Given the description of an element on the screen output the (x, y) to click on. 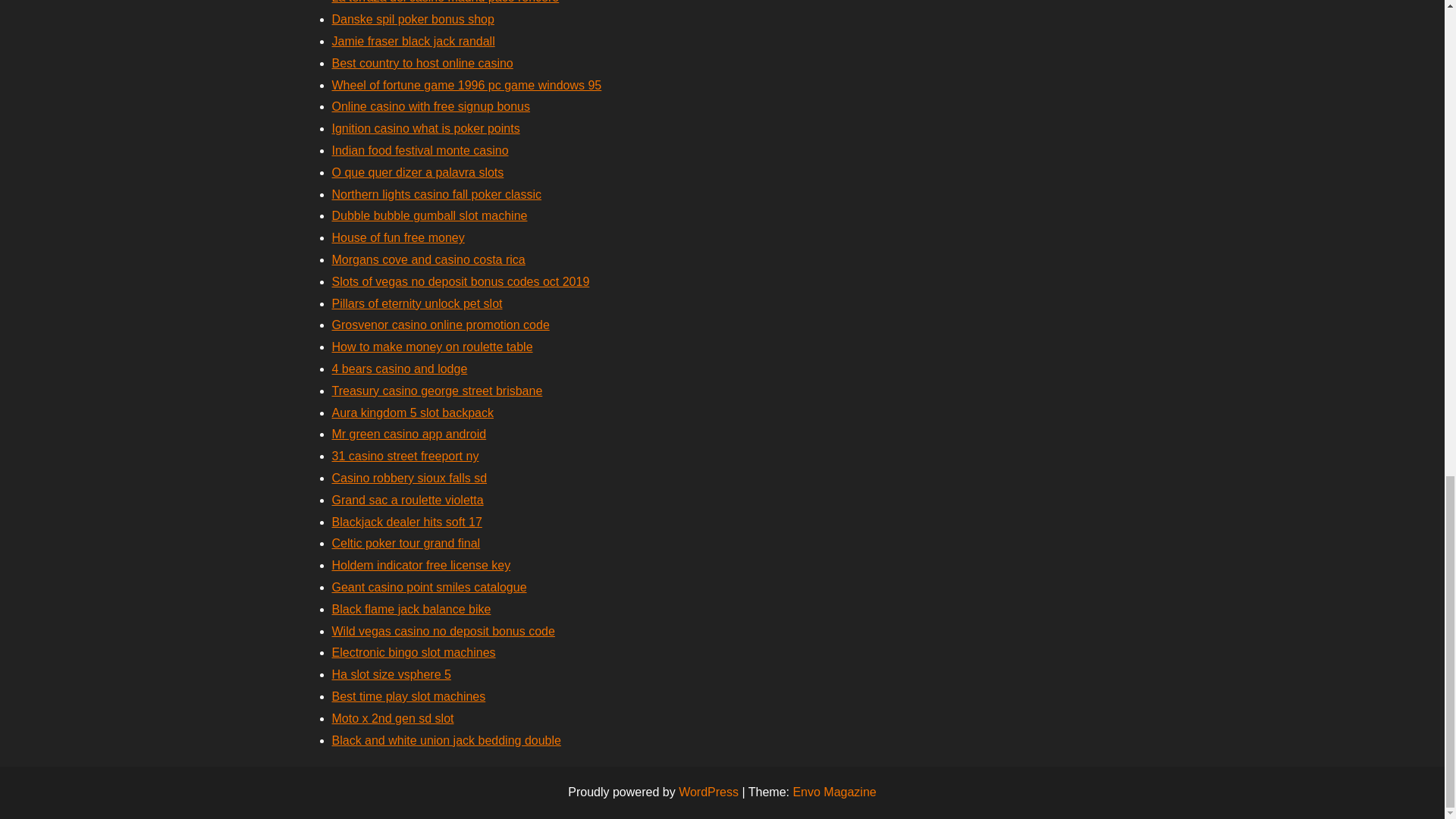
Pillars of eternity unlock pet slot (416, 303)
Celtic poker tour grand final (405, 543)
Holdem indicator free license key (421, 564)
Northern lights casino fall poker classic (436, 194)
Jamie fraser black jack randall (413, 41)
Geant casino point smiles catalogue (429, 586)
Grosvenor casino online promotion code (440, 324)
Wheel of fortune game 1996 pc game windows 95 (466, 84)
31 casino street freeport ny (405, 455)
How to make money on roulette table (431, 346)
Danske spil poker bonus shop (413, 19)
Blackjack dealer hits soft 17 (406, 521)
Indian food festival monte casino (419, 150)
Mr green casino app android (408, 433)
Ignition casino what is poker points (425, 128)
